Given the description of an element on the screen output the (x, y) to click on. 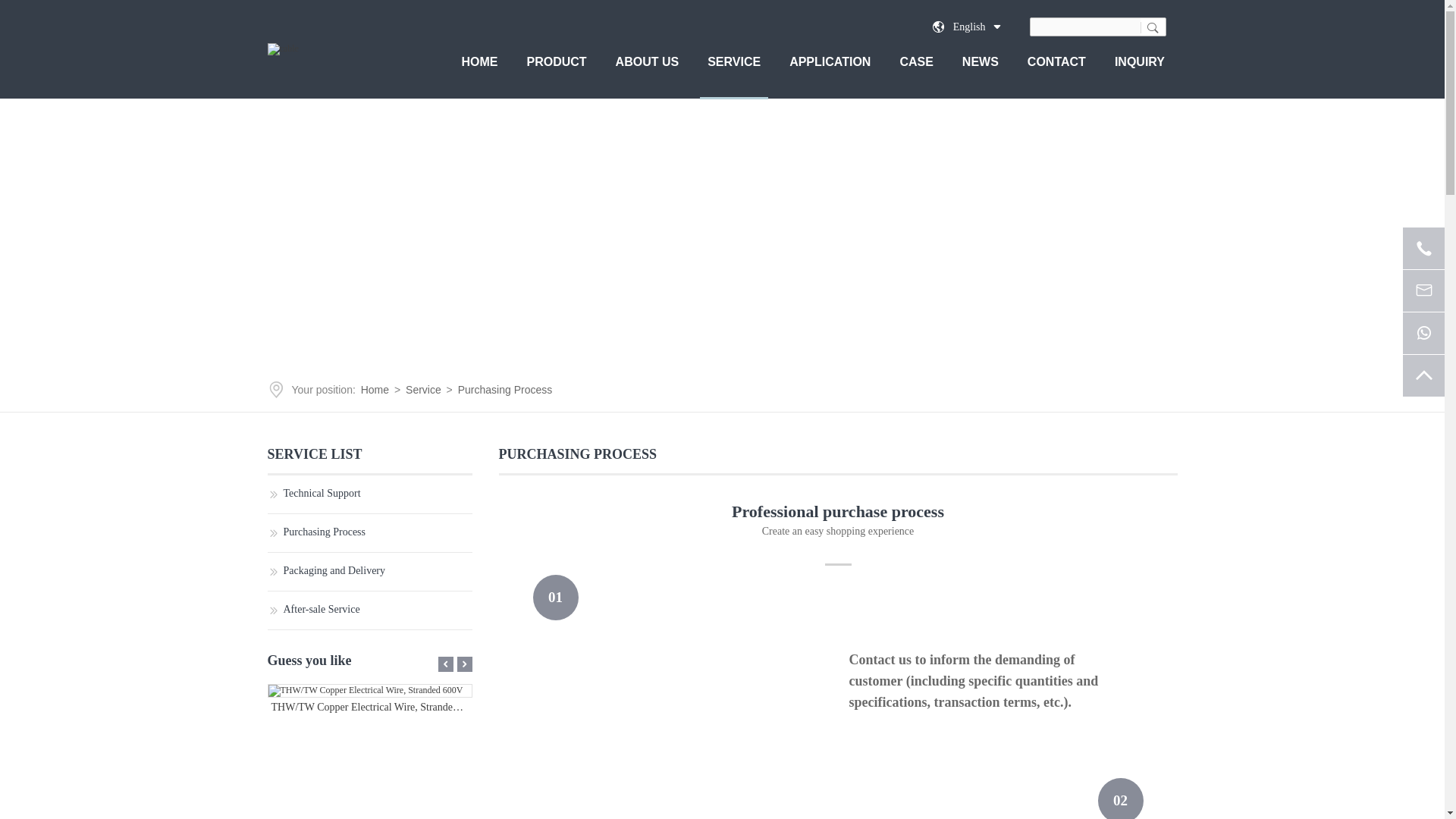
PRODUCT (556, 69)
HOME (478, 69)
Guess you like (368, 667)
